Given the description of an element on the screen output the (x, y) to click on. 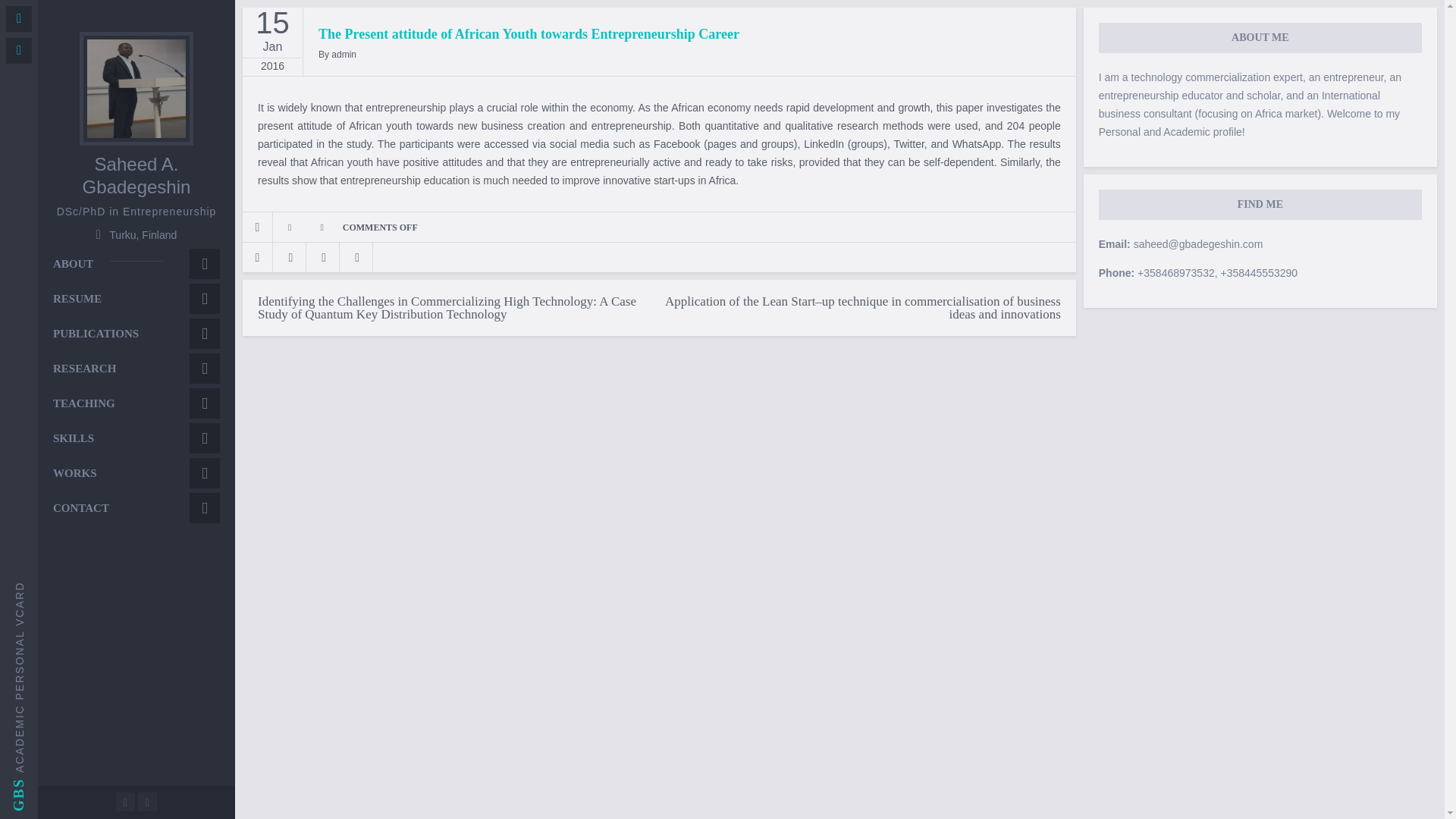
RESUME (135, 298)
ABOUT (135, 263)
